Given the description of an element on the screen output the (x, y) to click on. 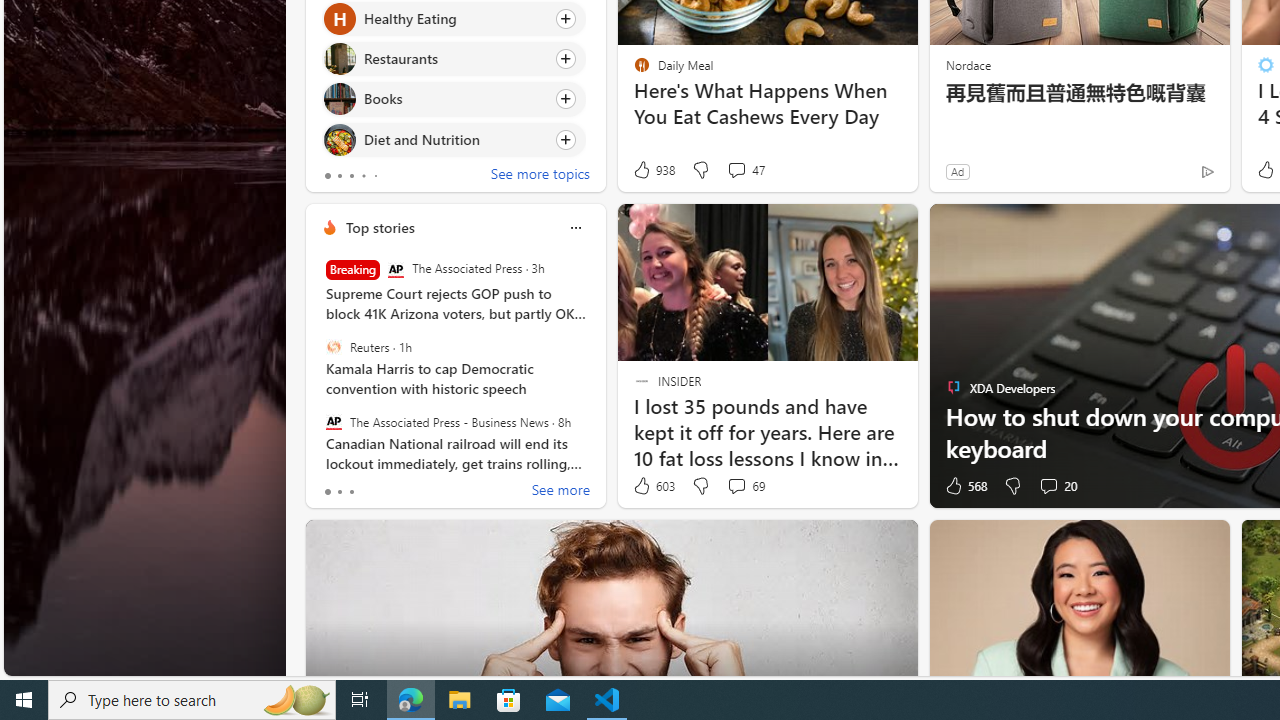
Click to follow topic Diet and Nutrition (453, 138)
View comments 47 Comment (745, 170)
Books (338, 98)
The Associated Press (395, 270)
The Associated Press - Business News (333, 421)
938 Like (653, 170)
tab-2 (351, 491)
Click to follow topic Healthy Eating (453, 18)
See more topics (540, 175)
568 Like (964, 485)
603 Like (653, 485)
Diet and Nutrition (338, 139)
Class: icon-img (575, 228)
